Given the description of an element on the screen output the (x, y) to click on. 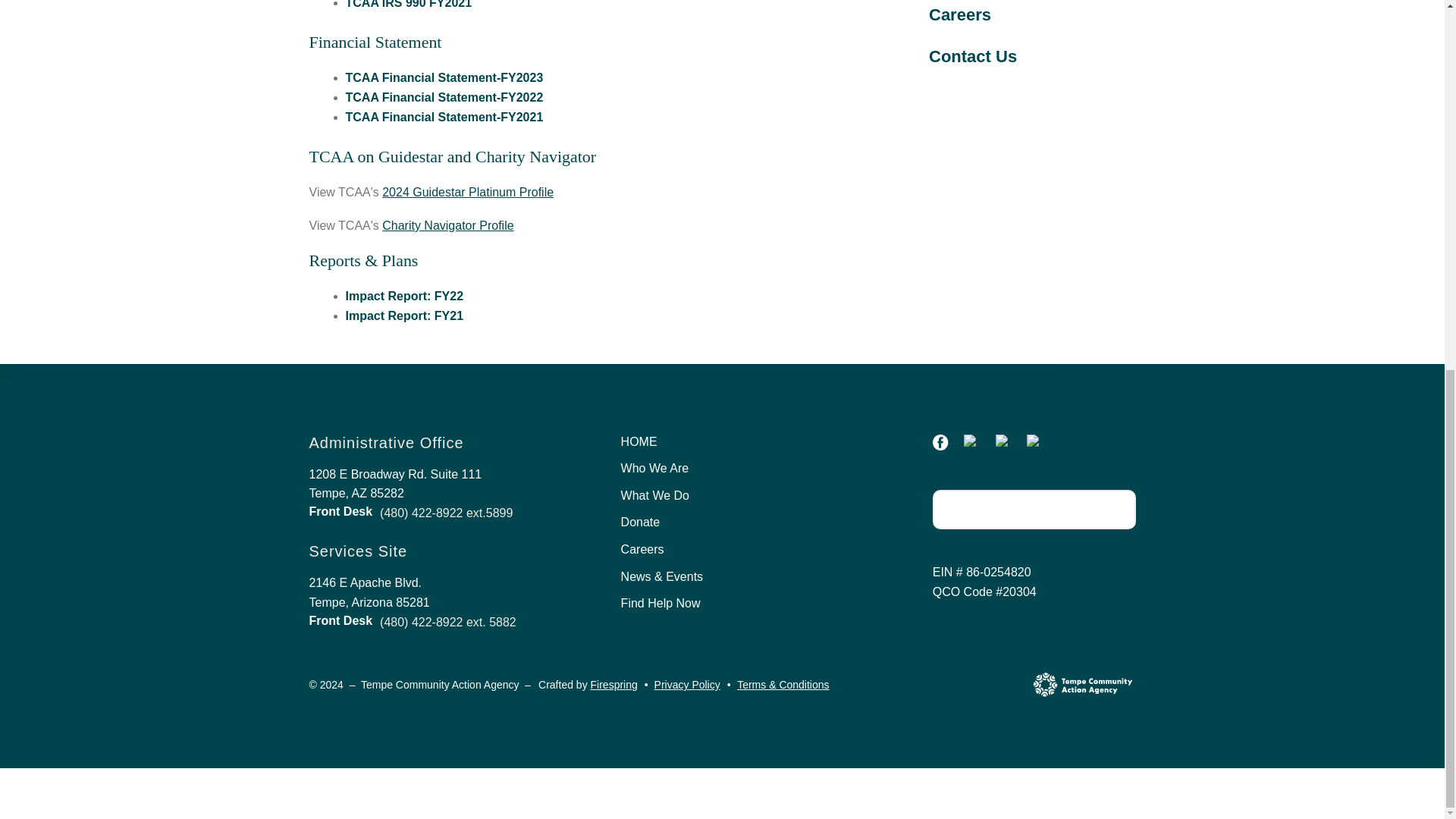
TCAA IRS 990 FY2021 (408, 4)
logo (1082, 684)
